Given the description of an element on the screen output the (x, y) to click on. 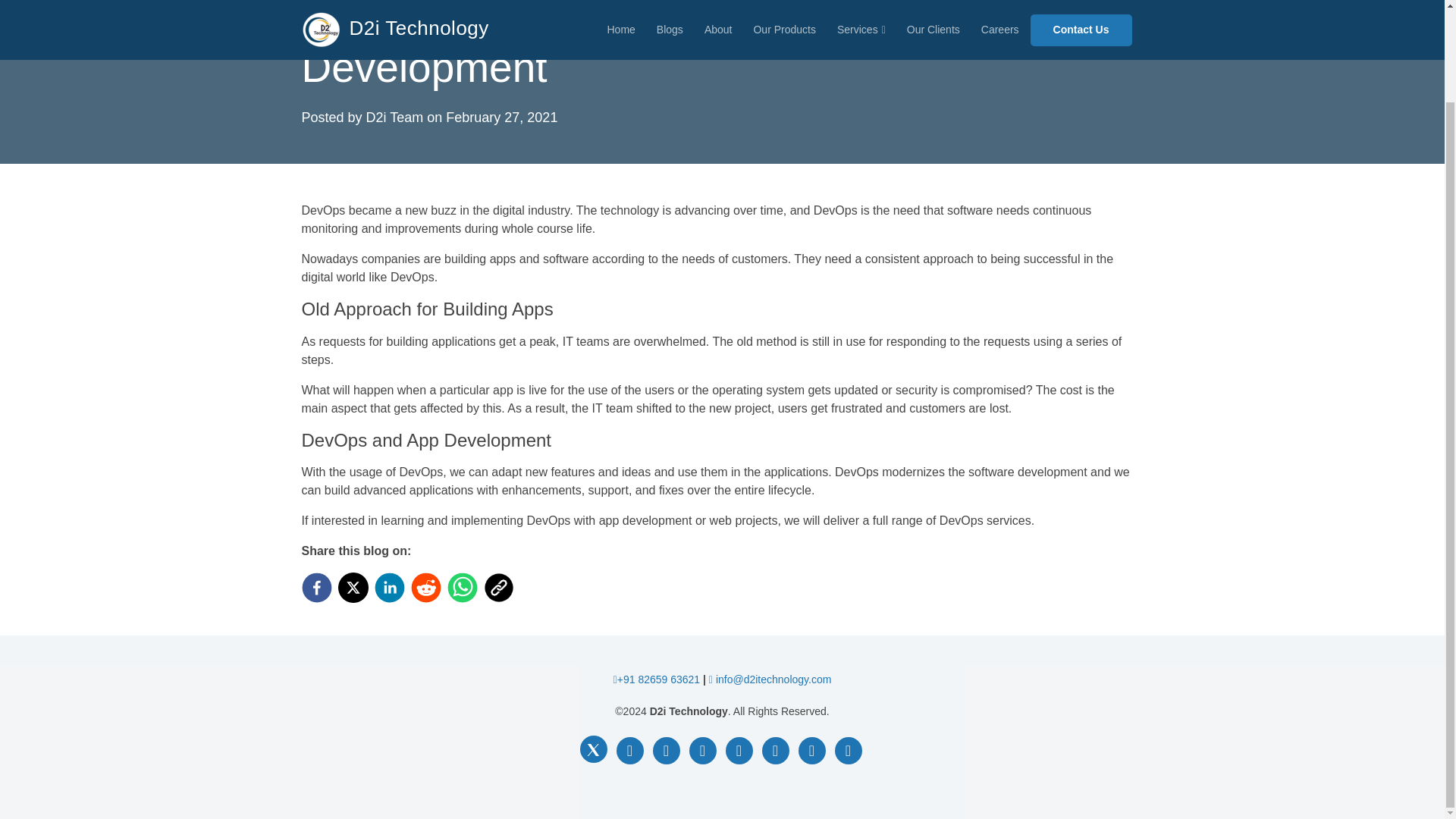
Share on Twitter (355, 586)
Share on WhatsApp (464, 586)
Twitter (593, 748)
Quora (847, 750)
Facebook (629, 750)
Share on LinkedIn (392, 586)
YouTube (738, 750)
Instagram (665, 750)
LinkedIn (702, 750)
Reddit (775, 750)
